Given the description of an element on the screen output the (x, y) to click on. 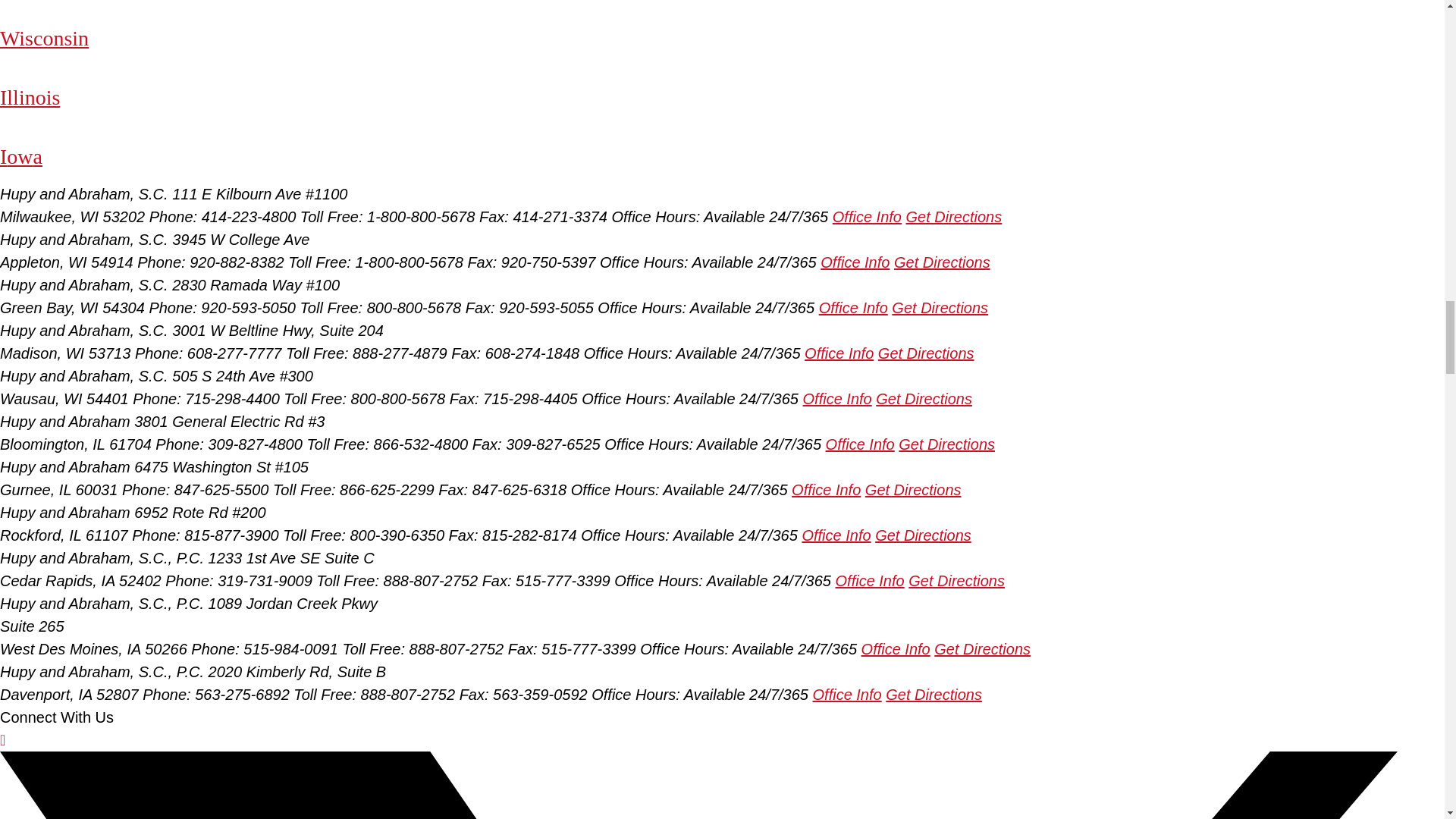
Facebook (2, 739)
